Given the description of an element on the screen output the (x, y) to click on. 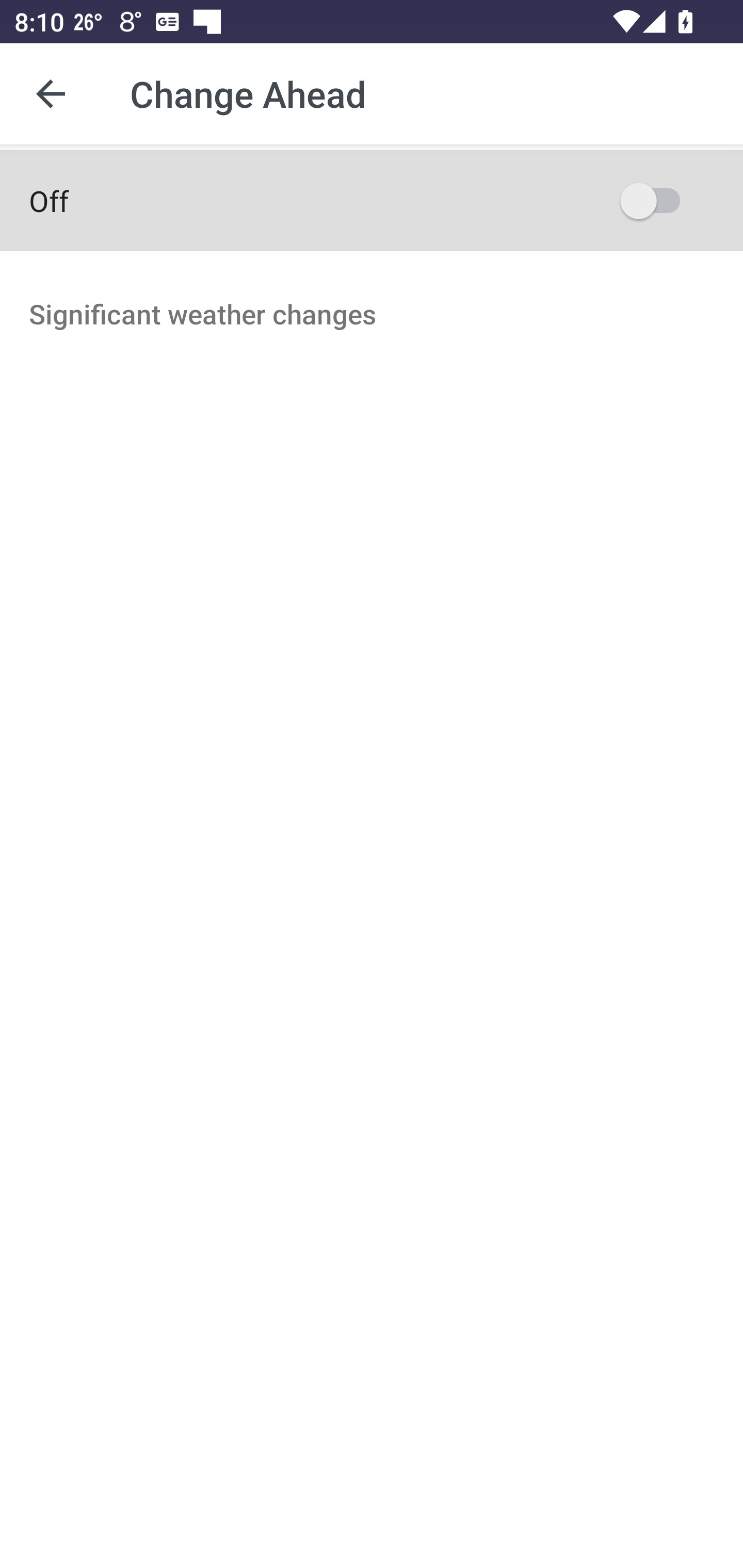
Navigate up (50, 93)
Off (371, 200)
